Given the description of an element on the screen output the (x, y) to click on. 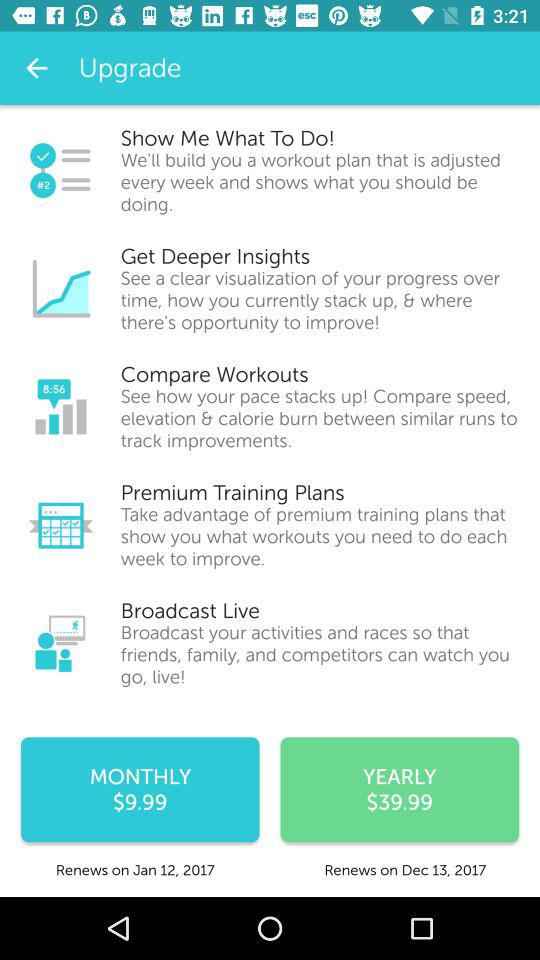
jump to yearly
$39.99 (399, 789)
